Given the description of an element on the screen output the (x, y) to click on. 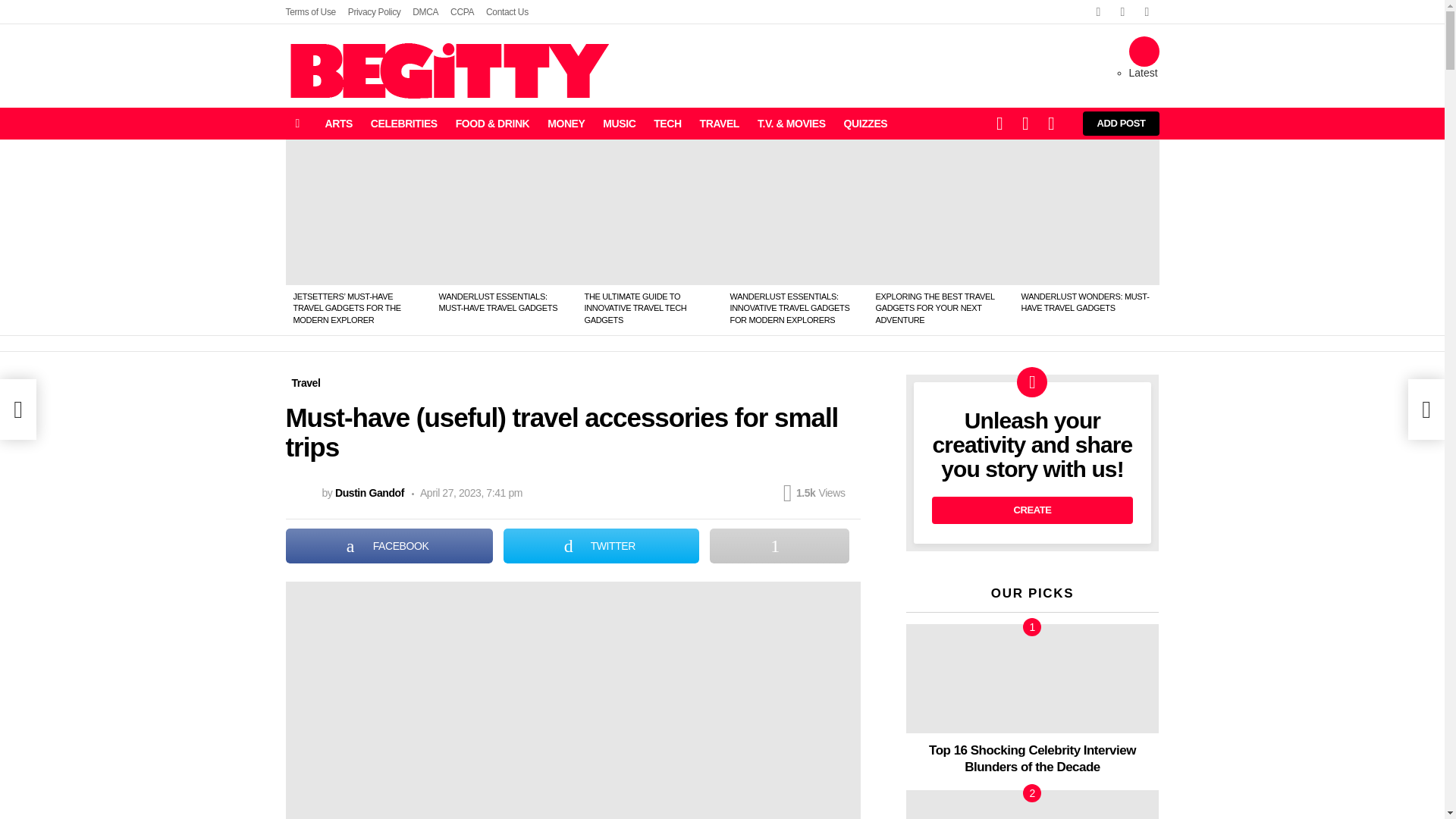
Exploring the Best Travel Gadgets for Your Next Adventure (940, 212)
The Ultimate Guide to Innovative Travel Tech Gadgets (649, 212)
Menu (296, 123)
MONEY (566, 123)
facebook (1097, 11)
Posts by Dustin Gandof (369, 492)
CELEBRITIES (403, 123)
MUSIC (619, 123)
twitter (1121, 11)
